Given the description of an element on the screen output the (x, y) to click on. 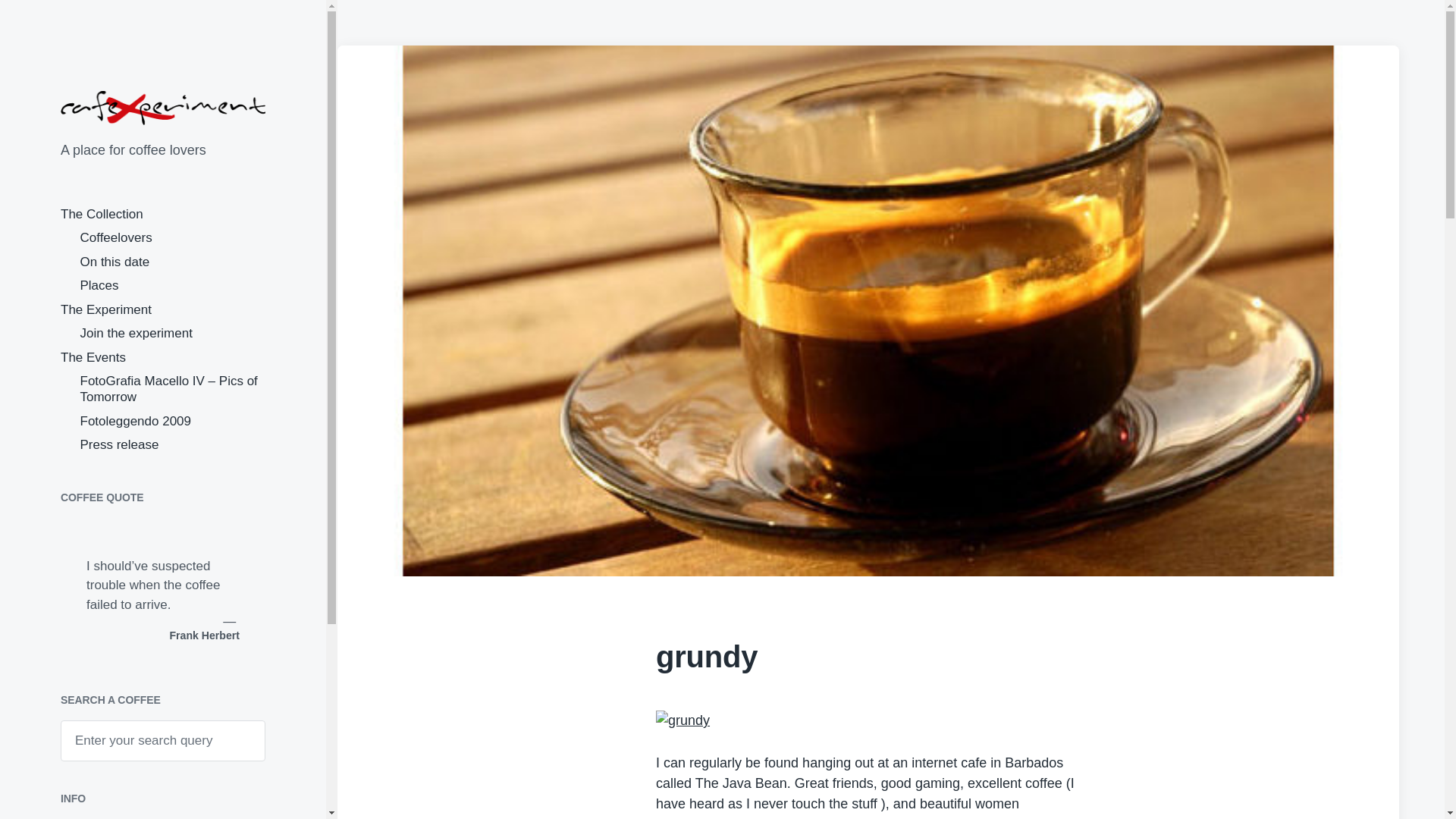
The Experiment (106, 309)
The Collection (101, 214)
Fotoleggendo 2009 (136, 421)
Coffeelovers (116, 237)
The Events (93, 357)
Join the experiment (136, 332)
Press release (119, 444)
On this date (114, 261)
Places (99, 285)
